Given the description of an element on the screen output the (x, y) to click on. 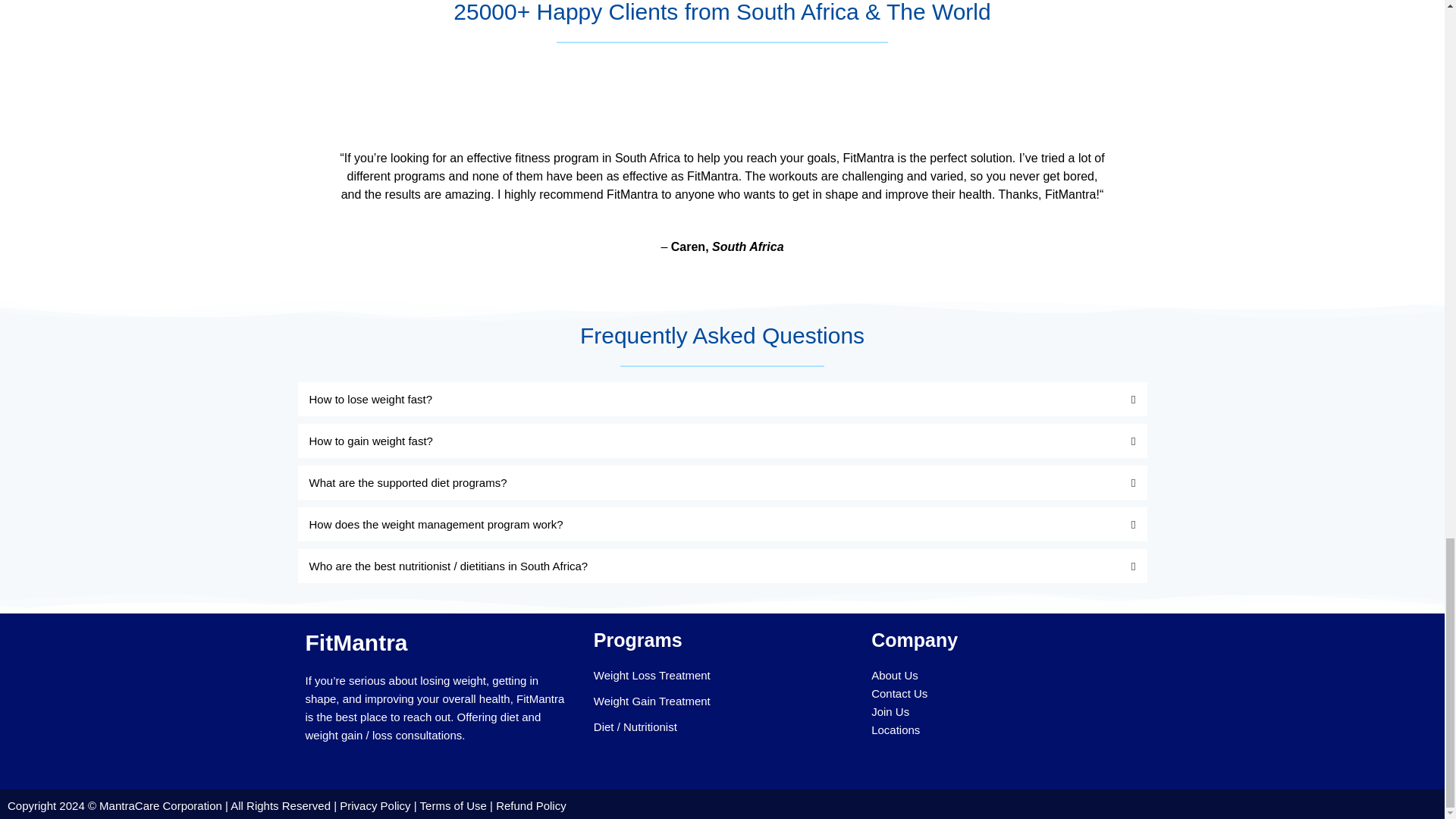
How to gain weight fast? (370, 440)
What are the supported diet programs? (407, 481)
Join Us (889, 711)
Locations (895, 729)
About Us (894, 675)
testimonial (722, 96)
Contact Us (898, 693)
Weight Gain Treatment (652, 700)
Privacy Policy (376, 805)
How does the weight management program work? (435, 523)
